Given the description of an element on the screen output the (x, y) to click on. 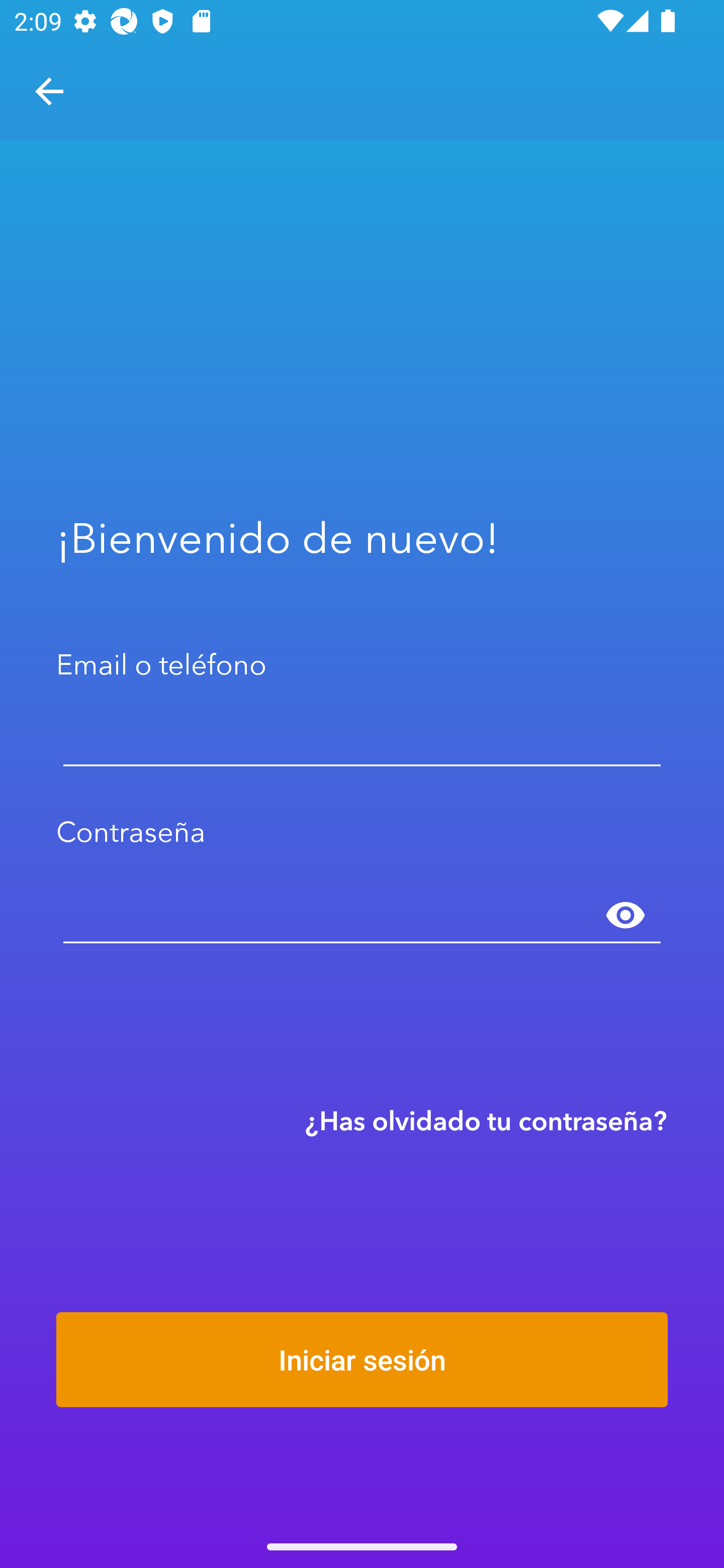
Navegar hacia arriba (49, 91)
Mostrar contraseña (625, 915)
¿Has olvidado tu contraseña? (486, 1119)
Iniciar sesión (361, 1359)
